Given the description of an element on the screen output the (x, y) to click on. 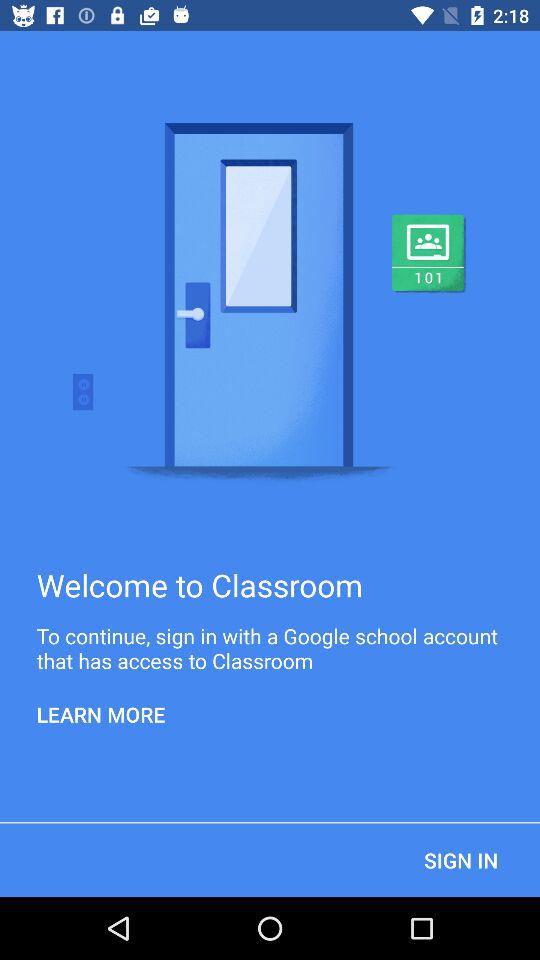
launch icon below the to continue sign item (101, 713)
